Given the description of an element on the screen output the (x, y) to click on. 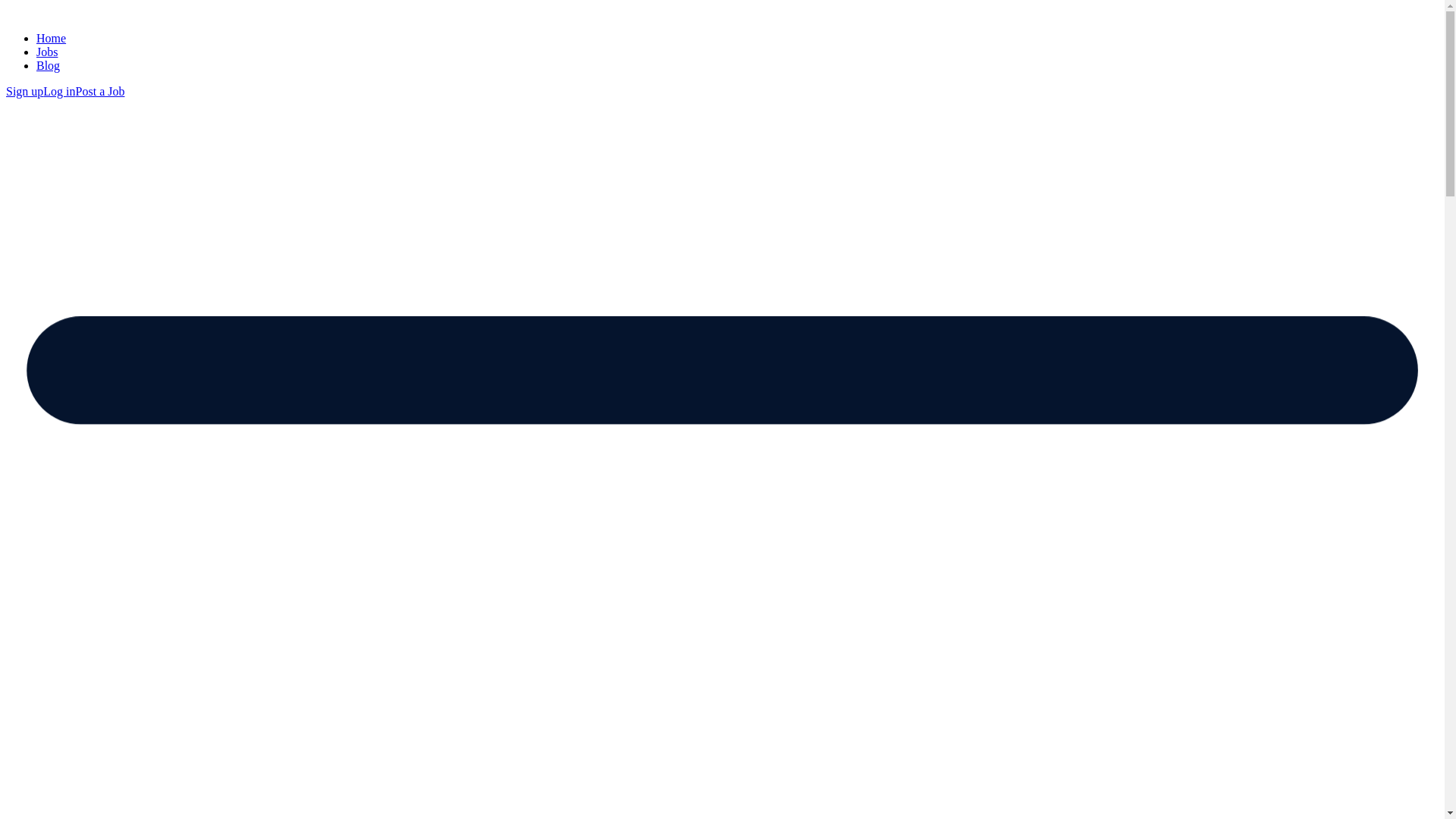
Sign up (24, 91)
Log in (59, 91)
Jobs (47, 51)
Blog (47, 65)
Home (50, 38)
Post a Job (100, 91)
